Given the description of an element on the screen output the (x, y) to click on. 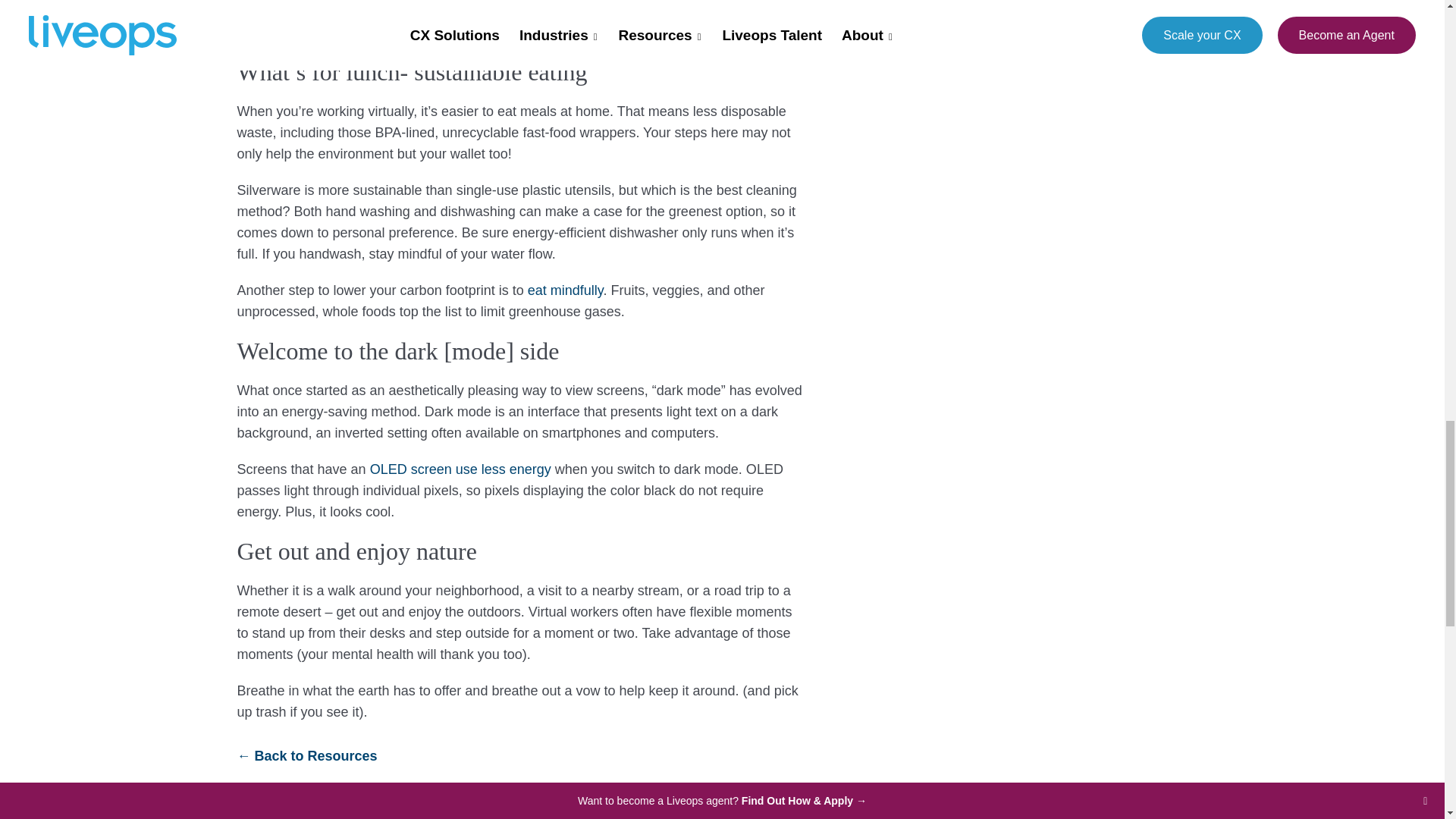
eat mindfully (565, 290)
